Given the description of an element on the screen output the (x, y) to click on. 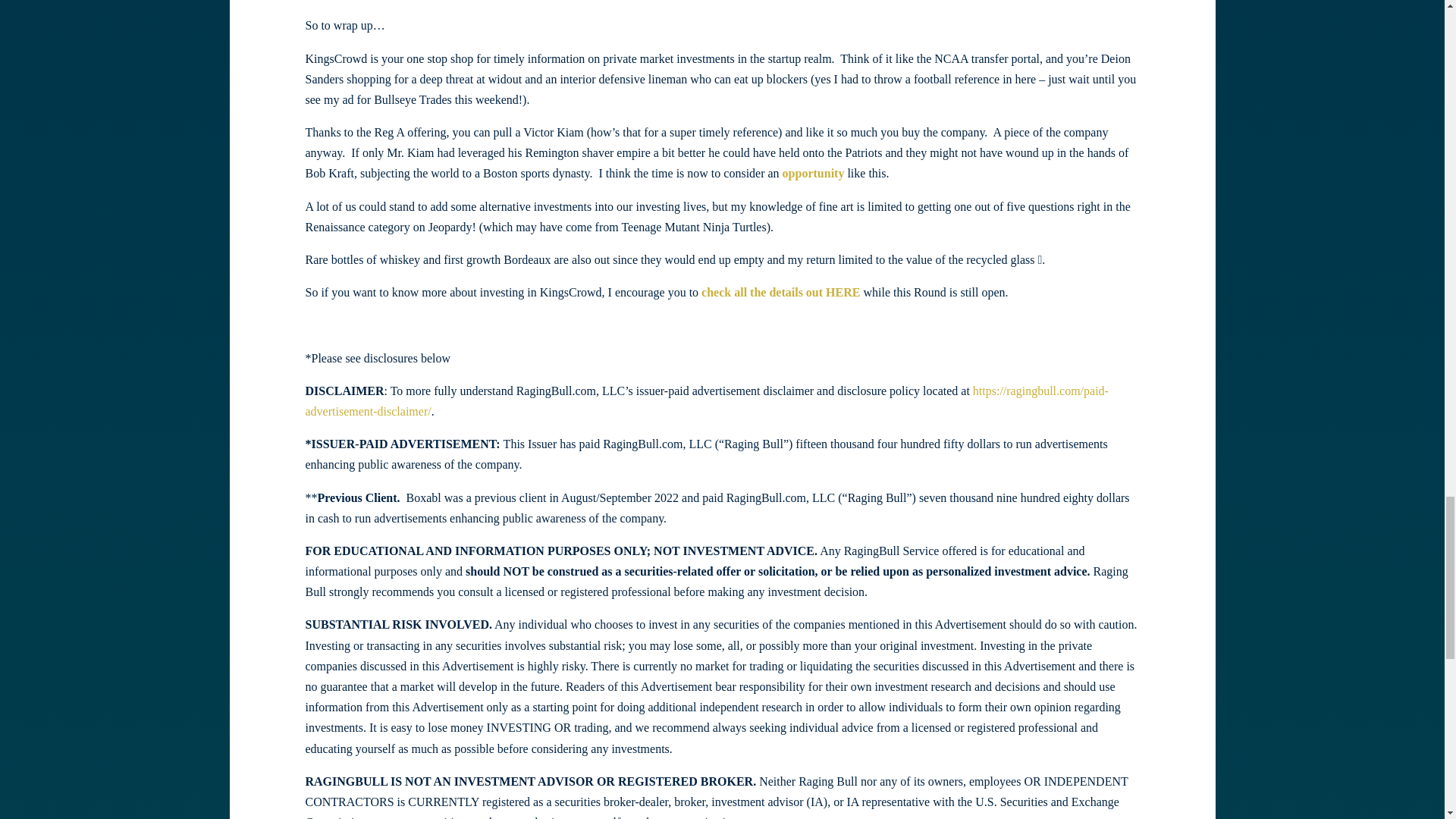
opportunity (813, 173)
check all the details out HERE (779, 291)
